Given the description of an element on the screen output the (x, y) to click on. 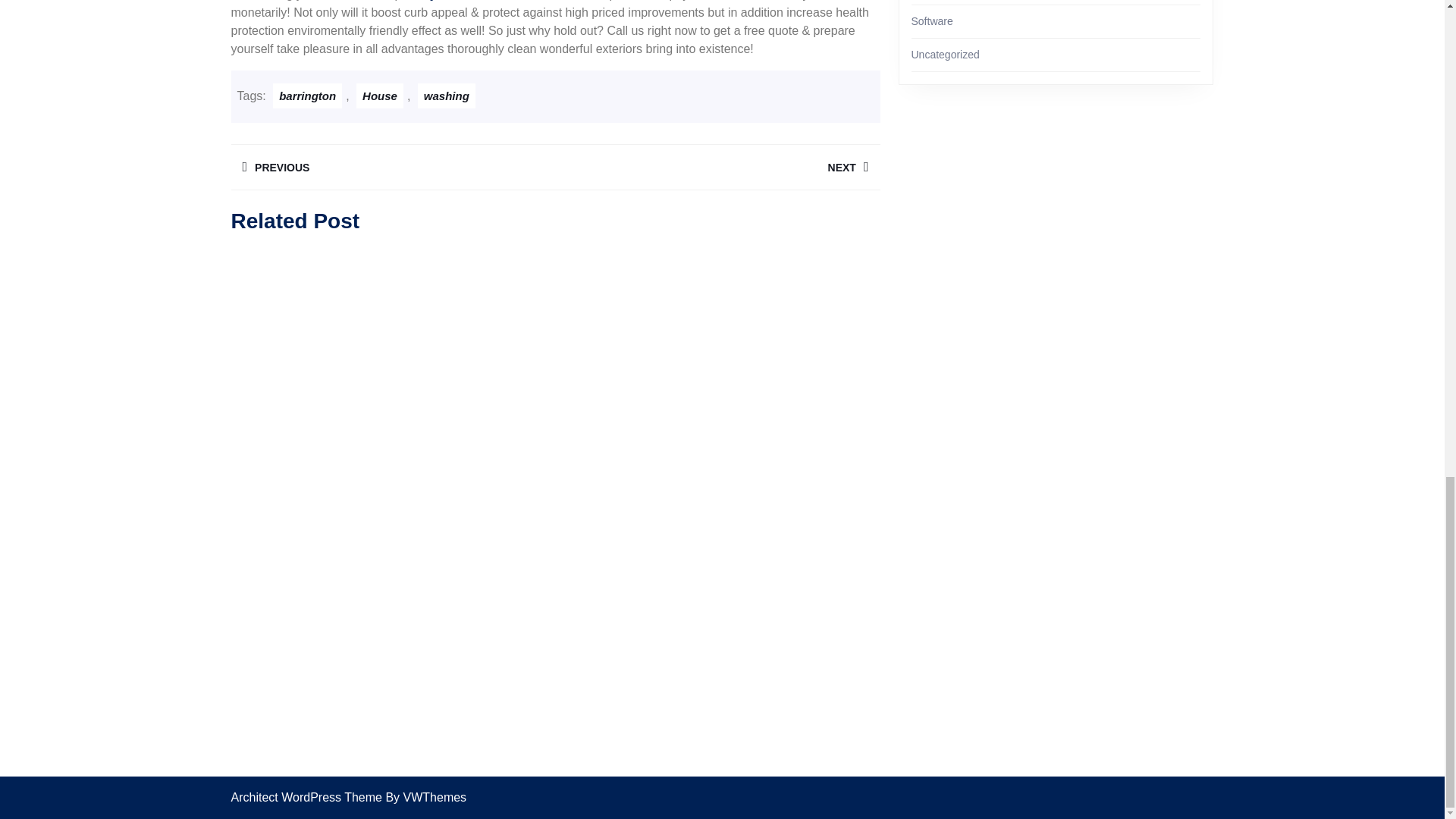
House (716, 167)
barrington (379, 95)
washing (307, 95)
myrefreshexteriors (446, 95)
